Given the description of an element on the screen output the (x, y) to click on. 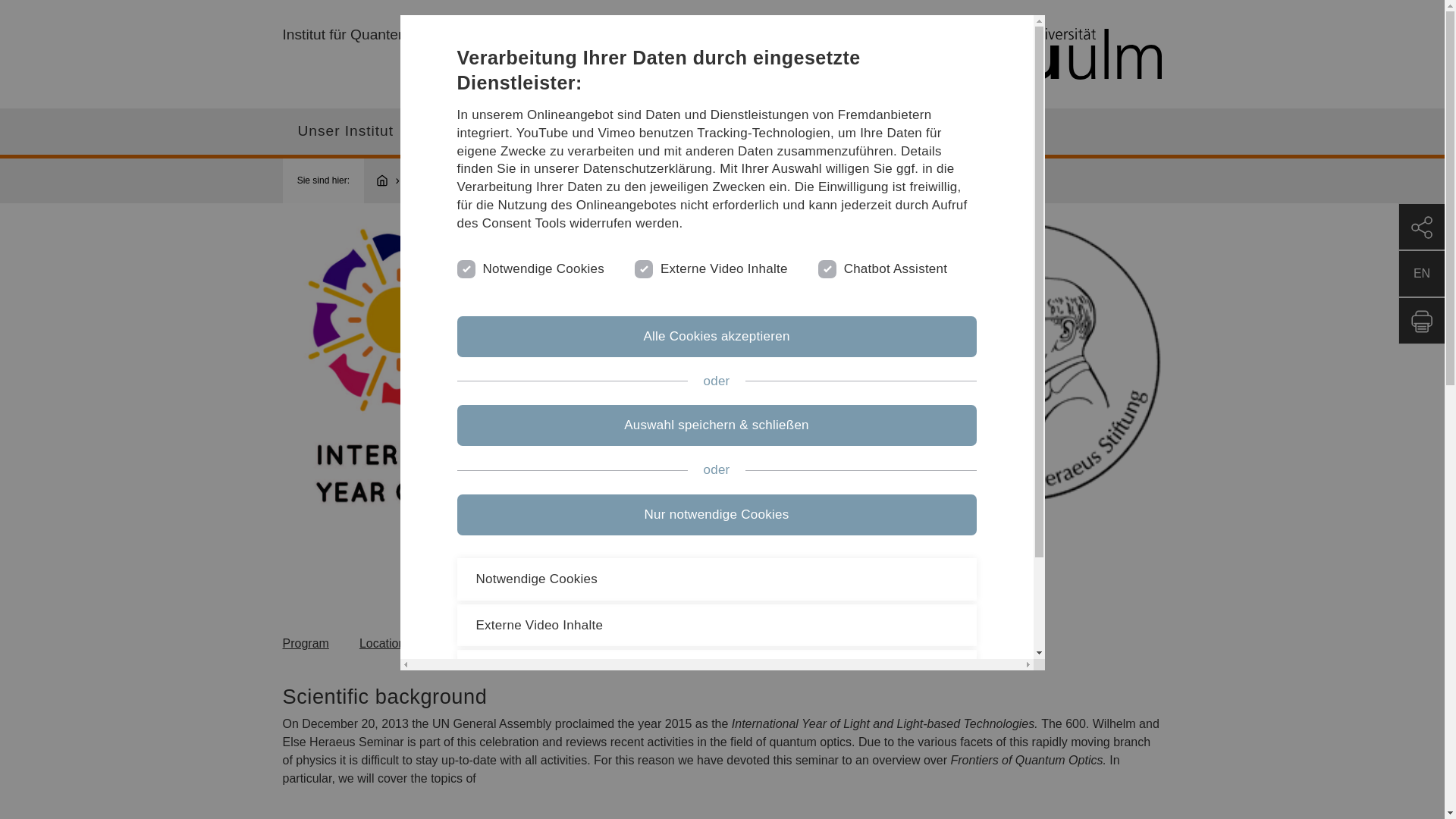
Teilen (1421, 226)
chatbot (825, 267)
Startseite (389, 180)
external (641, 267)
Diese Seite ausdrucken (1421, 320)
essential (464, 267)
Show page in english (1421, 273)
Startseite (945, 53)
Suche (1004, 130)
Direkt zur Hauptnavigation (740, 5)
